Given the description of an element on the screen output the (x, y) to click on. 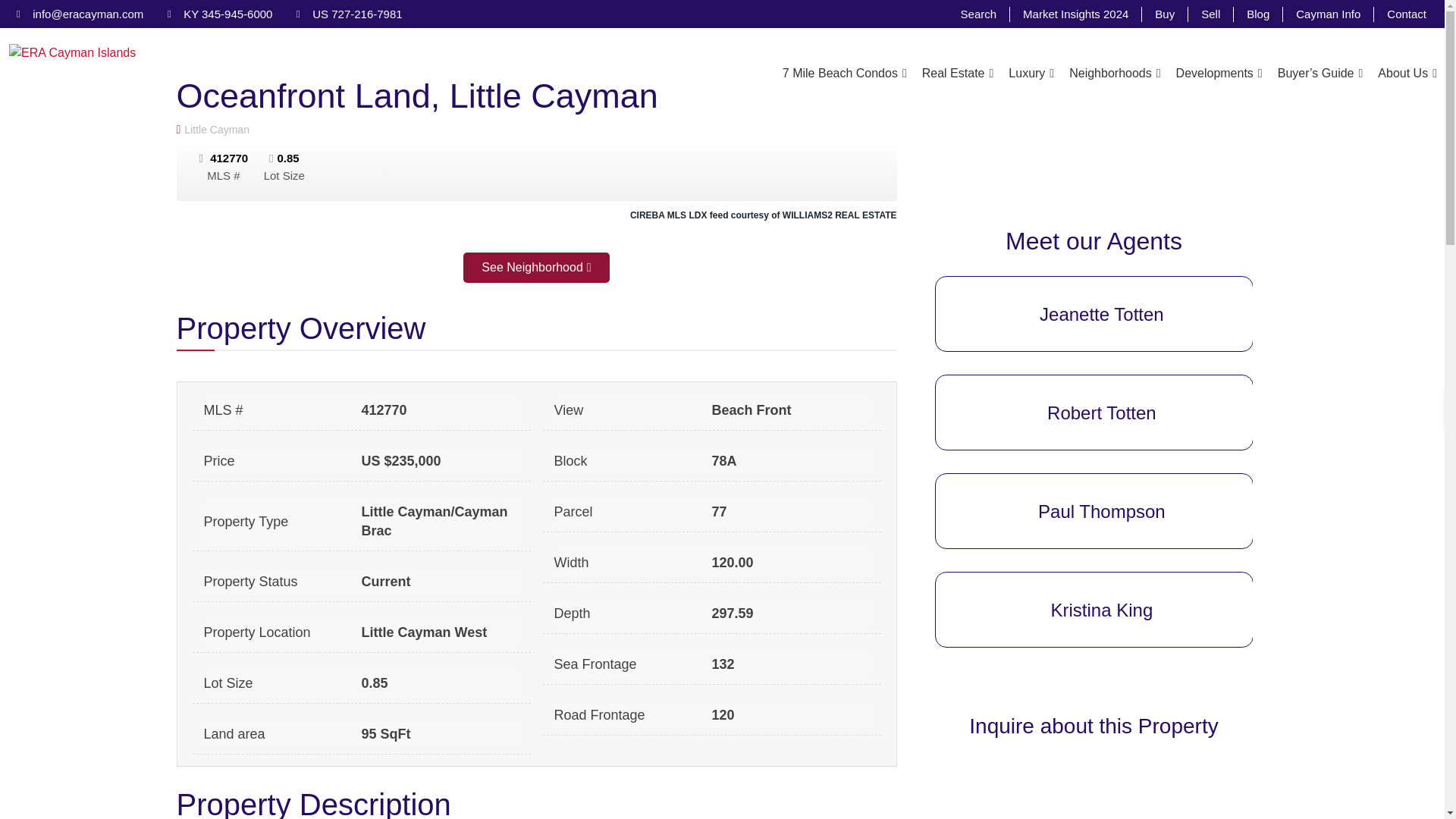
Search (979, 13)
Little Cayman (536, 129)
Cayman Info (1328, 13)
KY 345-945-6000 (220, 13)
Buy (1165, 13)
US 727-216-7981 (349, 13)
Contact (1406, 13)
Sell (1211, 13)
Blog (1258, 13)
Market Insights 2024 (1075, 13)
7 Mile Beach Condos (844, 73)
